Given the description of an element on the screen output the (x, y) to click on. 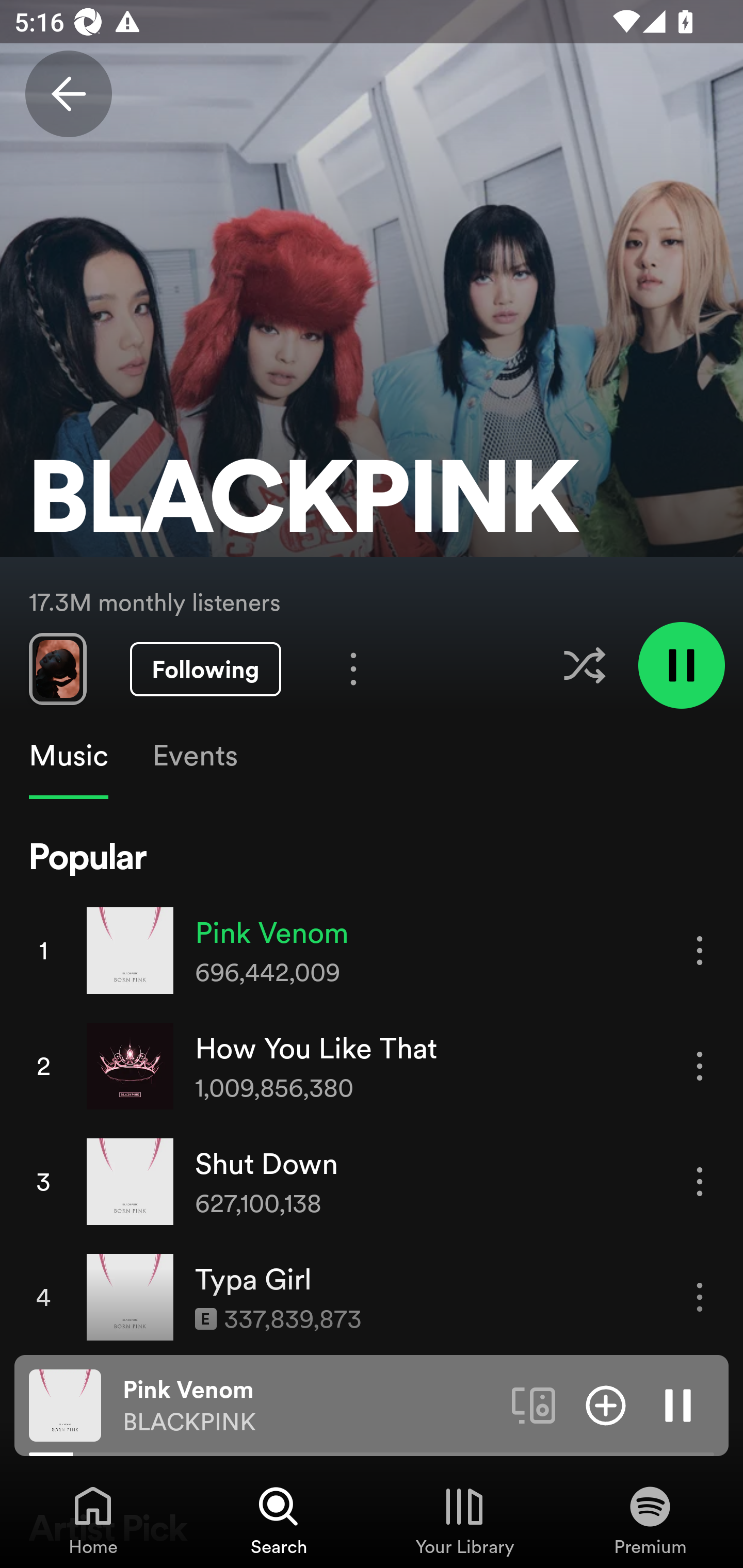
Back (68, 93)
Pause artist (681, 664)
Enable shuffle for this artist (583, 665)
Swipe through previews of tracks from this artist. (57, 668)
More options for artist BLACKPINK (352, 668)
Following Unfollow (205, 669)
Events (194, 755)
More options for song Pink Venom (699, 950)
More options for song How You Like That (699, 1066)
More options for song Shut Down (699, 1181)
More options for song Typa Girl (699, 1297)
Pink Venom BLACKPINK (309, 1405)
The cover art of the currently playing track (64, 1404)
Connect to a device. Opens the devices menu (533, 1404)
Add item (605, 1404)
Pause (677, 1404)
Home, Tab 1 of 4 Home Home (92, 1519)
Search, Tab 2 of 4 Search Search (278, 1519)
Your Library, Tab 3 of 4 Your Library Your Library (464, 1519)
Premium, Tab 4 of 4 Premium Premium (650, 1519)
